Given the description of an element on the screen output the (x, y) to click on. 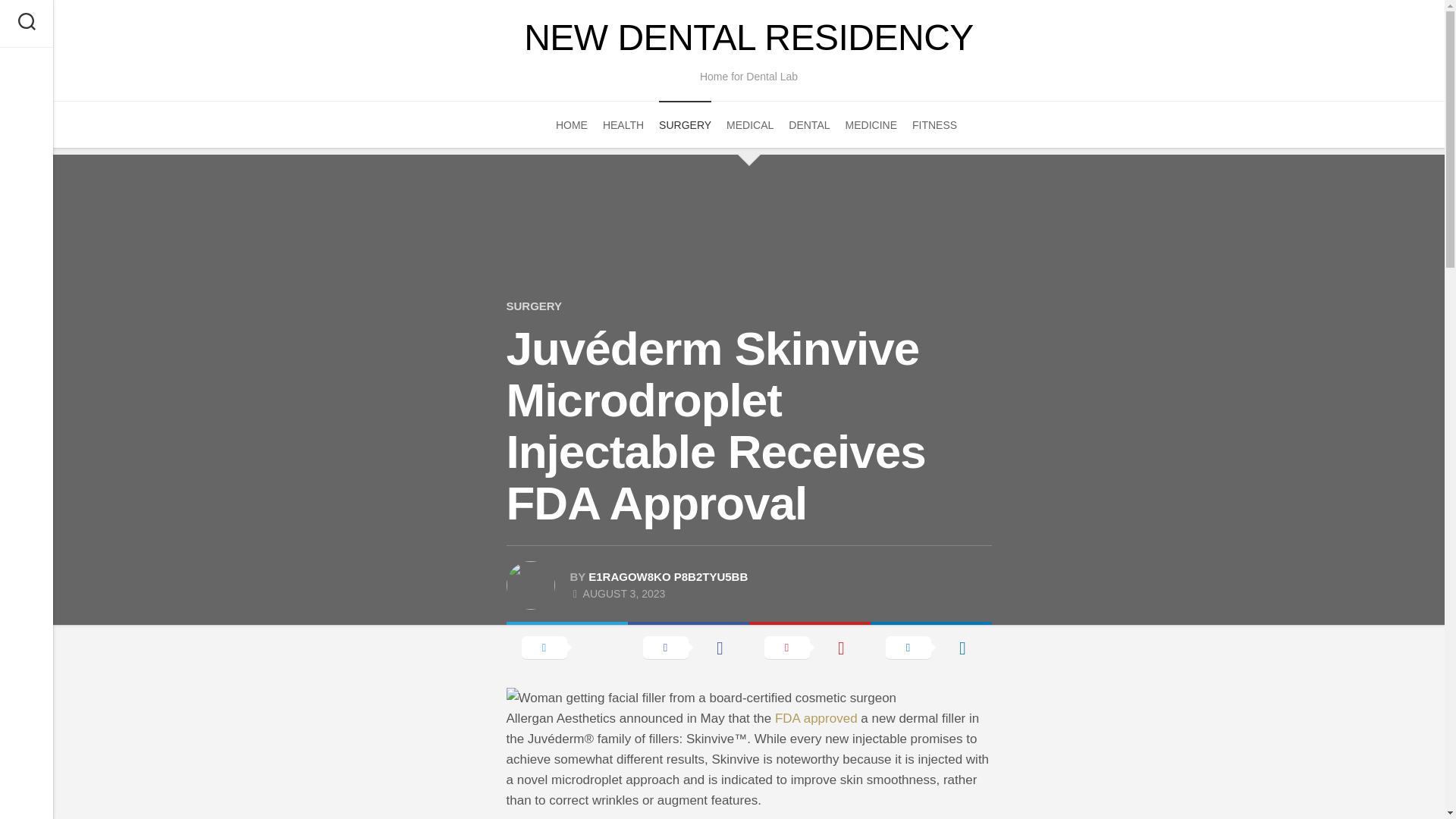
FDA approved (815, 718)
SURGERY (534, 305)
Posts by e1ragow8ko p8b2tyu5bb (668, 576)
Share on X (566, 646)
Share on Pinterest (809, 646)
MEDICINE (870, 124)
Share on LinkedIn (930, 646)
E1RAGOW8KO P8B2TYU5BB (668, 576)
NEW DENTAL RESIDENCY (748, 37)
HEALTH (622, 124)
